Given the description of an element on the screen output the (x, y) to click on. 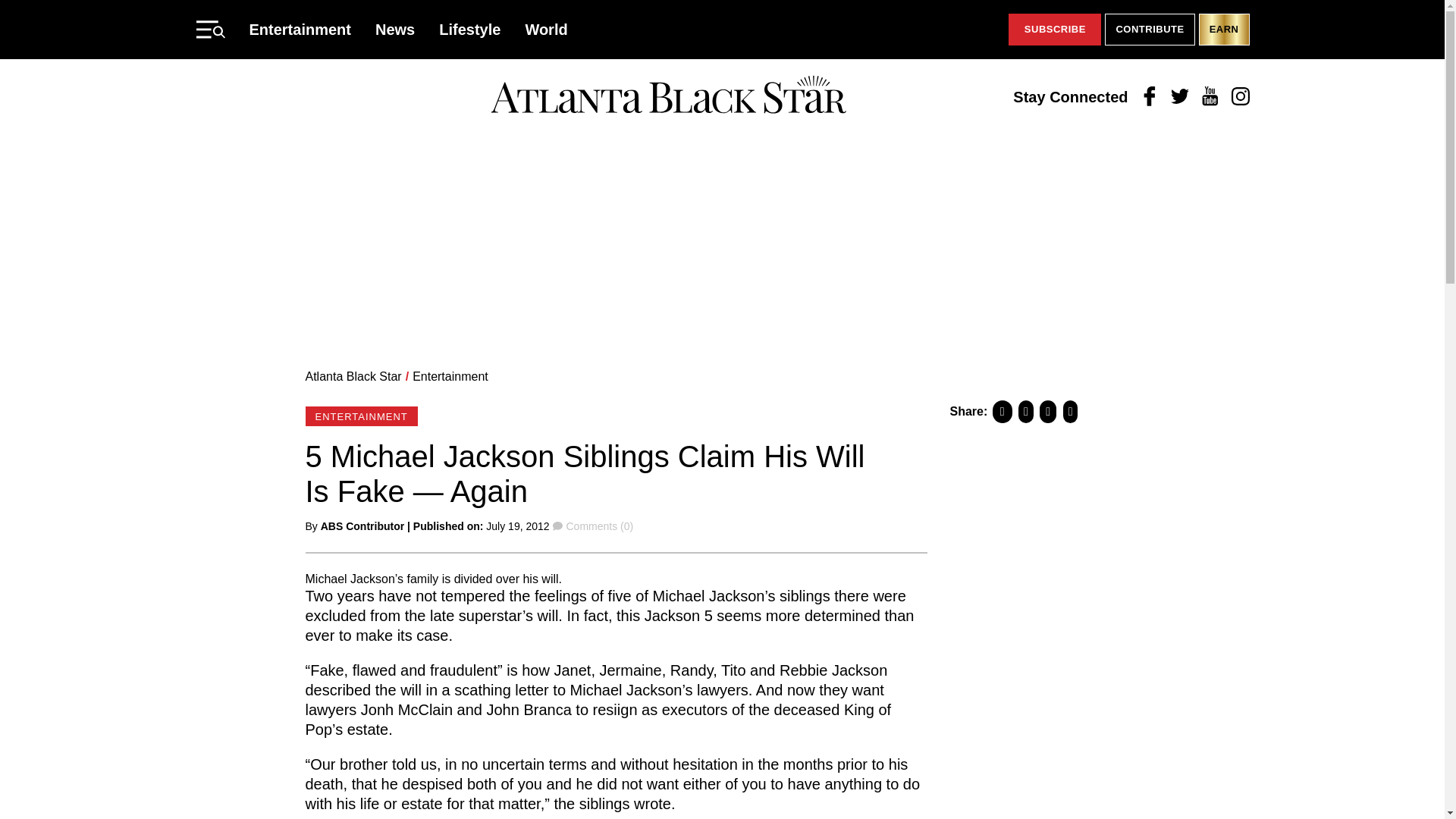
SUBSCRIBE (1054, 29)
Go to the Entertainment Category archives. (449, 376)
CONTRIBUTE (1149, 29)
Entertainment (449, 376)
Lifestyle (469, 29)
Atlanta Black Star (667, 96)
News (394, 29)
EARN (1223, 29)
World (545, 29)
Entertainment (299, 29)
Atlanta Black Star (352, 376)
Go to Atlanta Black Star. (352, 376)
